Given the description of an element on the screen output the (x, y) to click on. 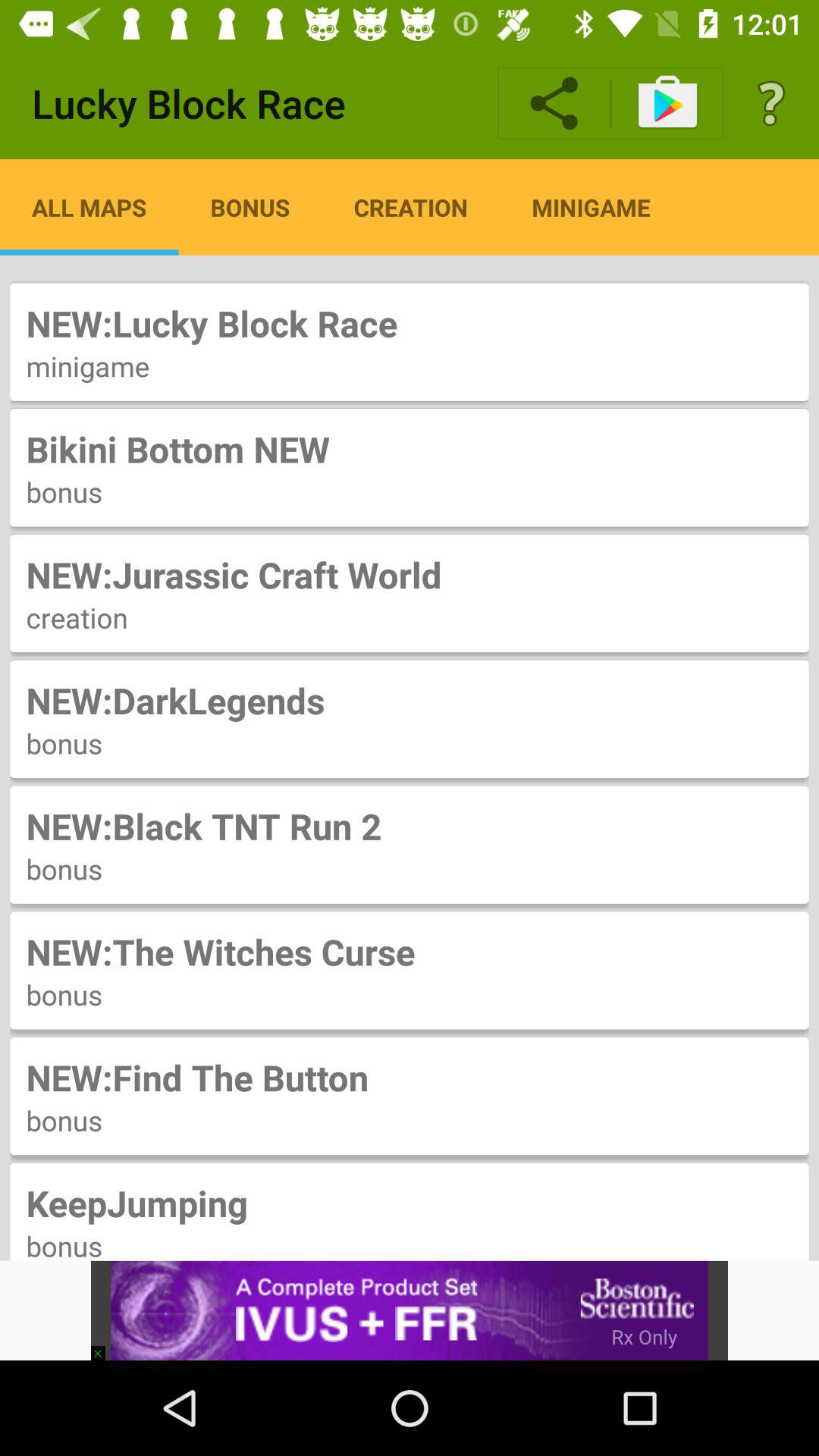
open item above the new lucky block item (771, 103)
